Given the description of an element on the screen output the (x, y) to click on. 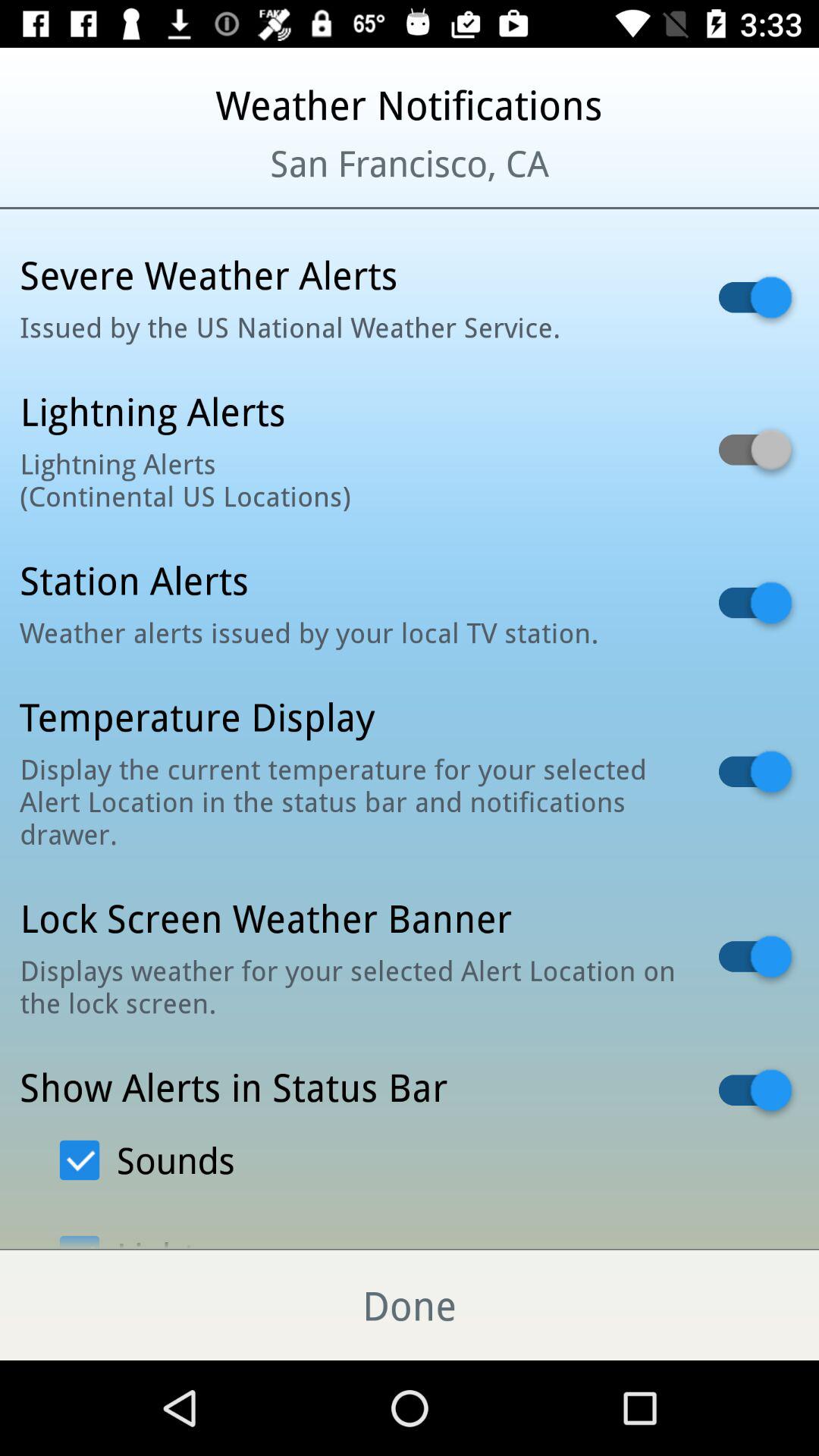
choose display the current icon (349, 801)
